Given the description of an element on the screen output the (x, y) to click on. 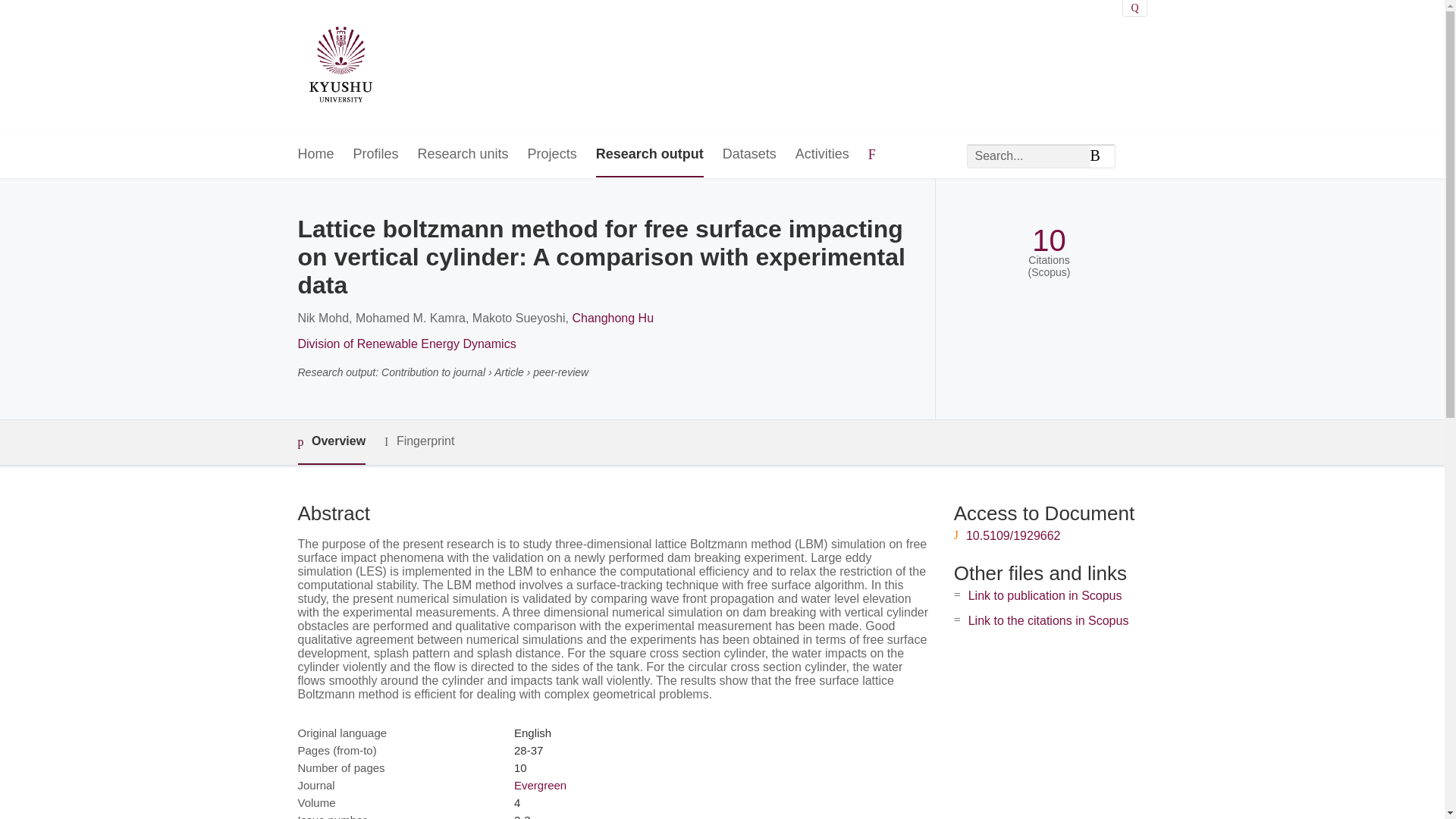
Evergreen (539, 784)
Projects (551, 154)
Link to publication in Scopus (1045, 594)
Division of Renewable Energy Dynamics (406, 343)
Link to the citations in Scopus (1048, 620)
Fingerprint (419, 441)
Changhong Hu (612, 318)
Activities (821, 154)
Datasets (749, 154)
Research units (462, 154)
Overview (331, 442)
10 (1048, 240)
Profiles (375, 154)
Research output (649, 154)
